Given the description of an element on the screen output the (x, y) to click on. 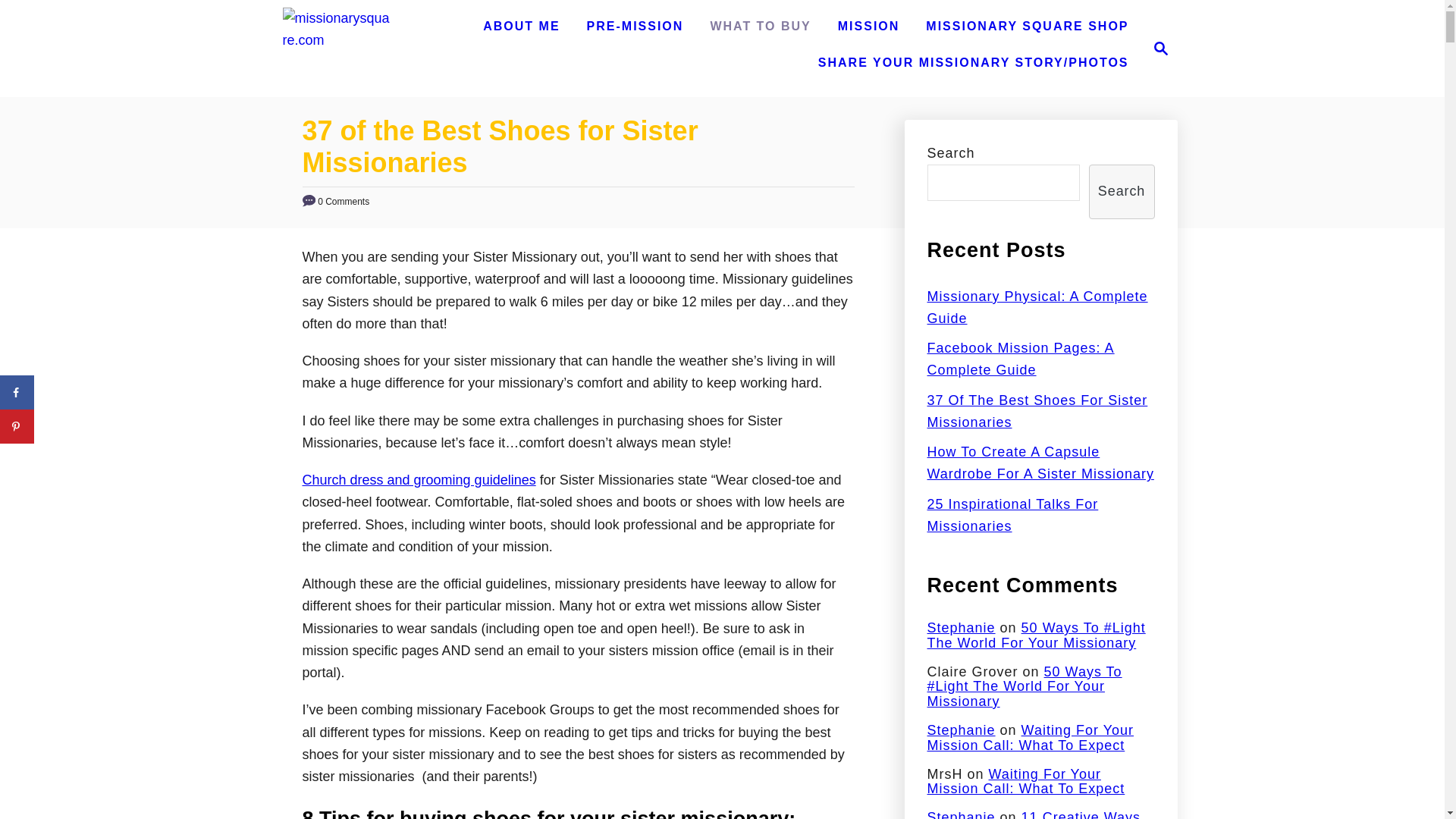
missionarysquare.com (336, 39)
WHAT TO BUY (759, 26)
PRE-MISSION (635, 26)
ABOUT ME (521, 26)
MISSIONARY SQUARE SHOP (1155, 48)
MISSION (1026, 26)
Magnifying Glass (868, 26)
Church dress and grooming guidelines (1160, 48)
